Given the description of an element on the screen output the (x, y) to click on. 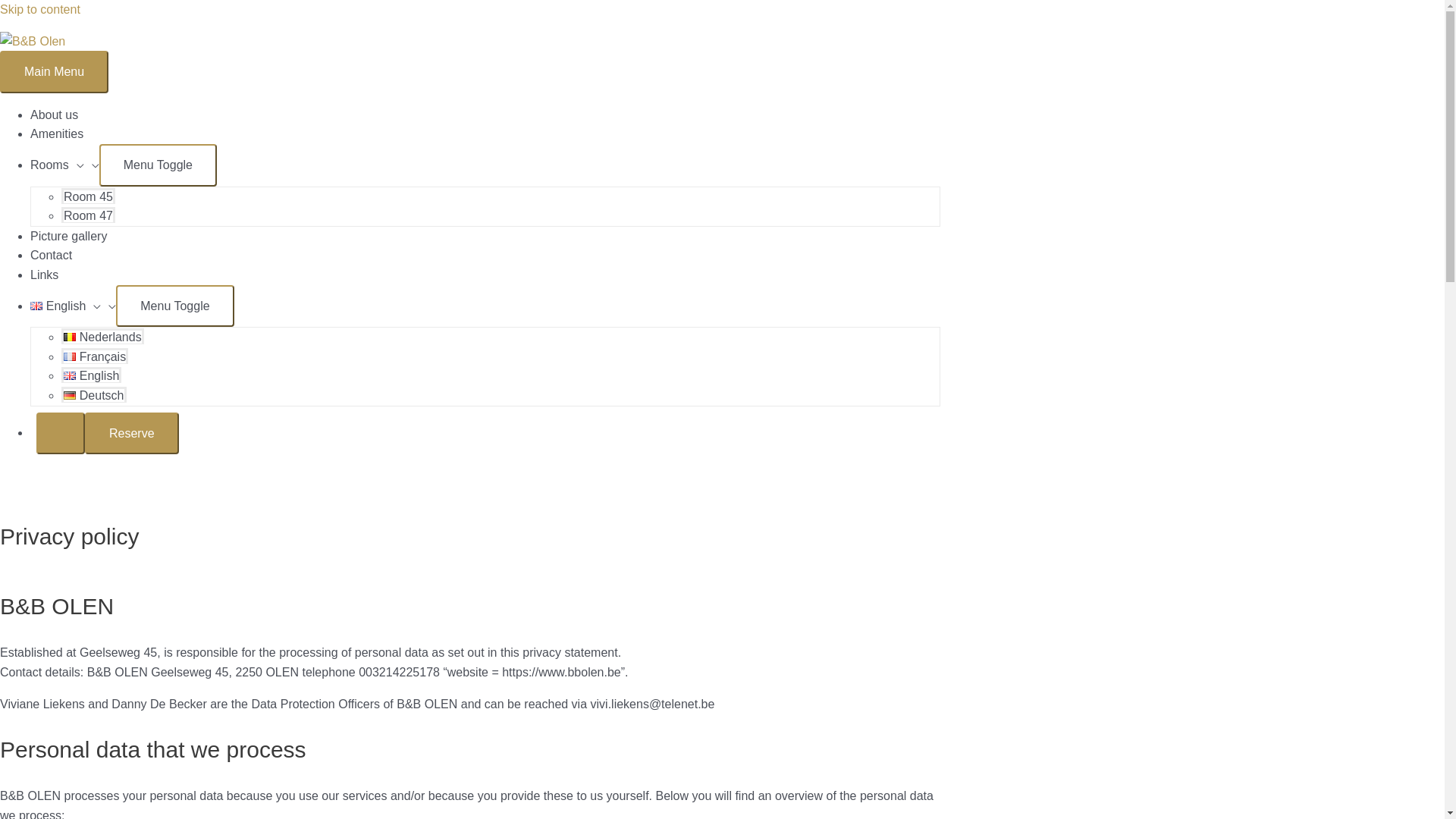
Room 45 Element type: text (88, 195)
Main Menu Element type: text (54, 71)
Contact Element type: text (51, 254)
Klik om dit element te bewerken. Element type: hover (60, 433)
Reserve Element type: text (131, 433)
Links Element type: text (44, 274)
Nederlands Element type: text (102, 336)
English Element type: text (73, 305)
Amenities Element type: text (56, 133)
Room 47 Element type: text (88, 214)
Menu Toggle Element type: text (157, 165)
English Element type: text (91, 374)
Reserve Element type: text (107, 432)
About us Element type: text (54, 114)
Deutsch Element type: text (93, 394)
Skip to content Element type: text (40, 9)
Picture gallery Element type: text (68, 235)
Rooms Element type: text (64, 164)
Menu Toggle Element type: text (174, 306)
